Given the description of an element on the screen output the (x, y) to click on. 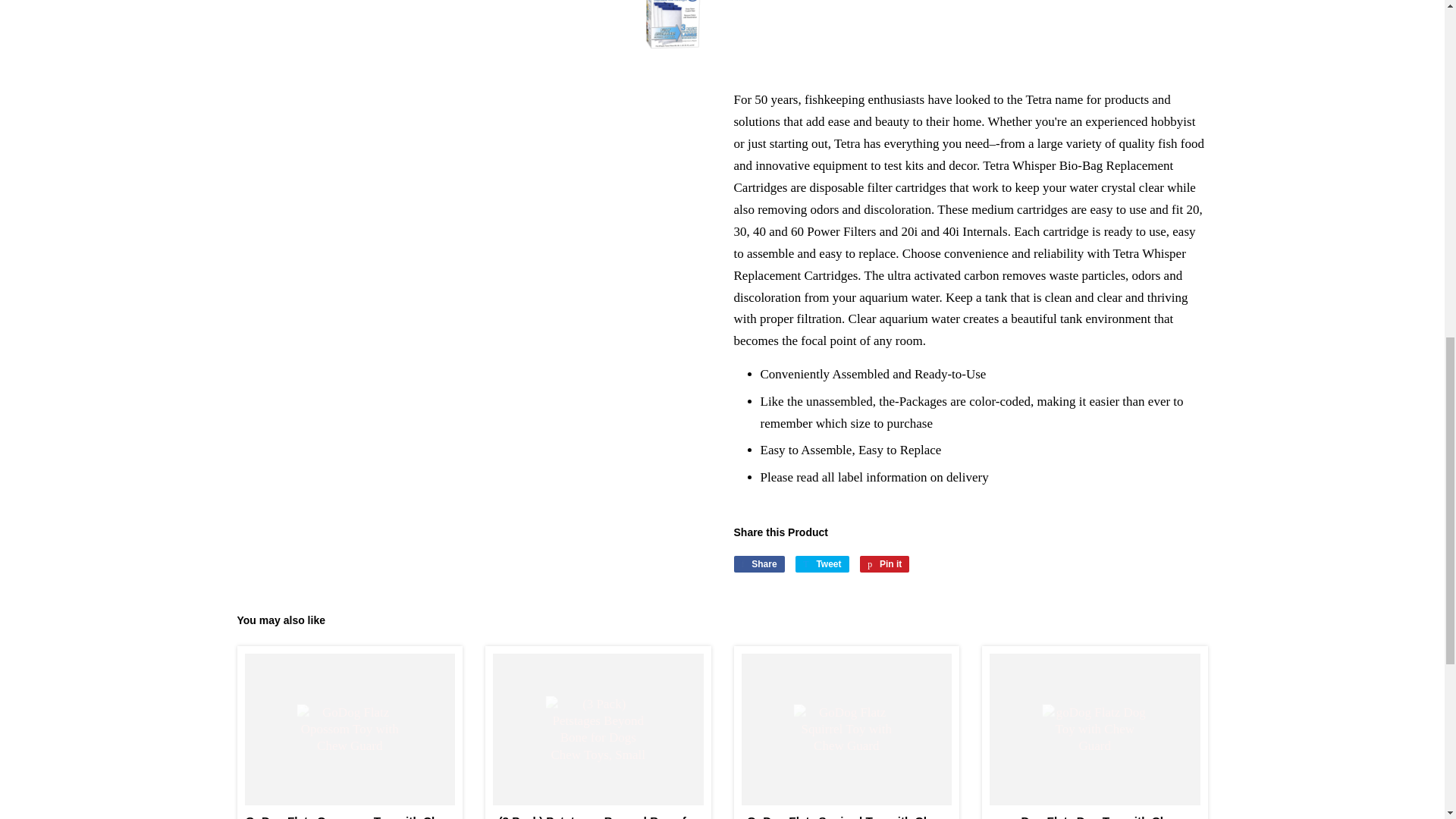
Tweet on Twitter (821, 564)
Share on Facebook (758, 564)
Pin on Pinterest (884, 564)
